Given the description of an element on the screen output the (x, y) to click on. 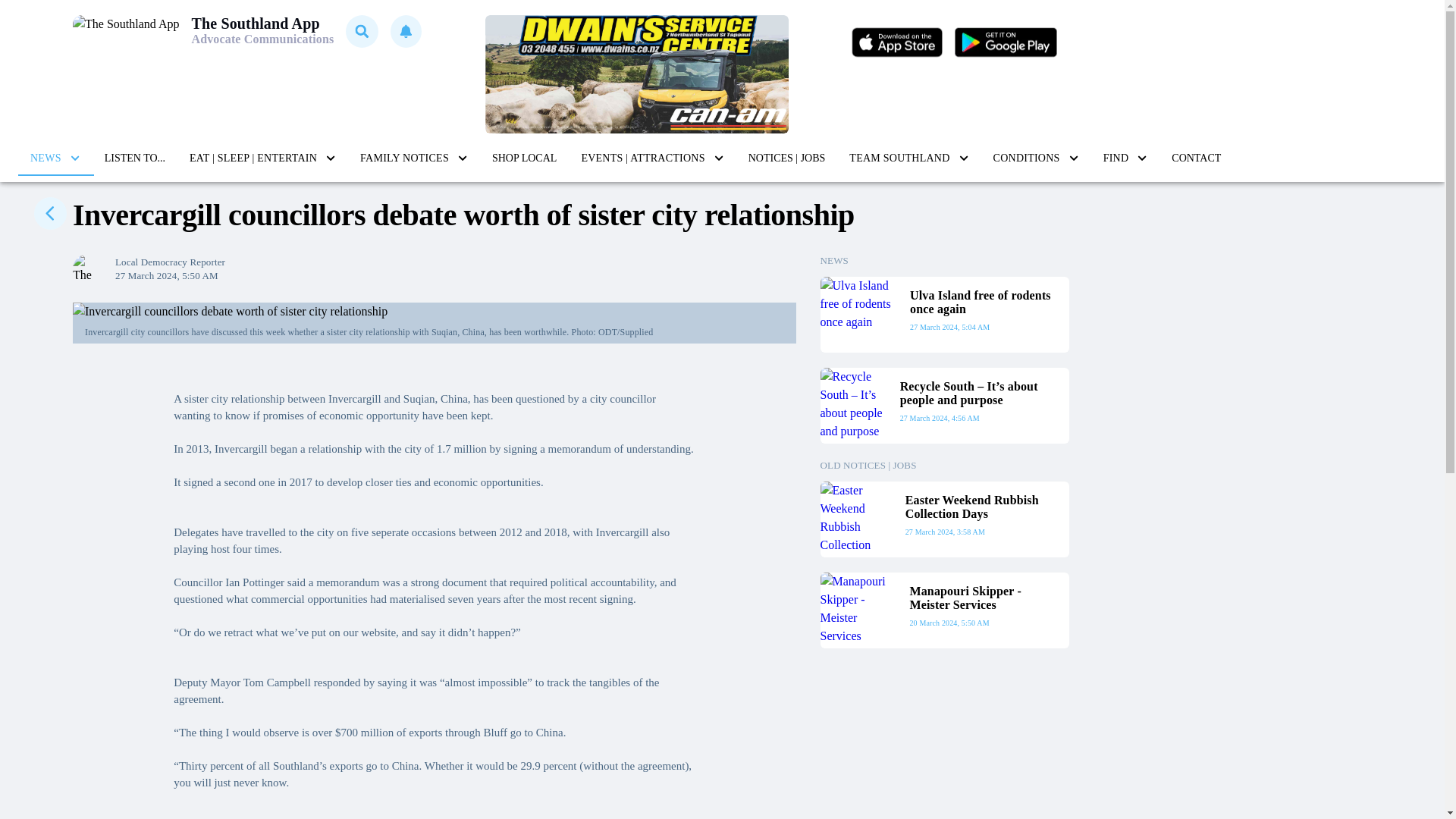
CONTACT (1195, 157)
CONDITIONS (1035, 157)
NEWS (55, 157)
Untitled Advertisement (636, 74)
FAMILY NOTICES (413, 157)
LISTEN TO... (135, 157)
FIND (1125, 157)
TEAM SOUTHLAND (908, 157)
